Given the description of an element on the screen output the (x, y) to click on. 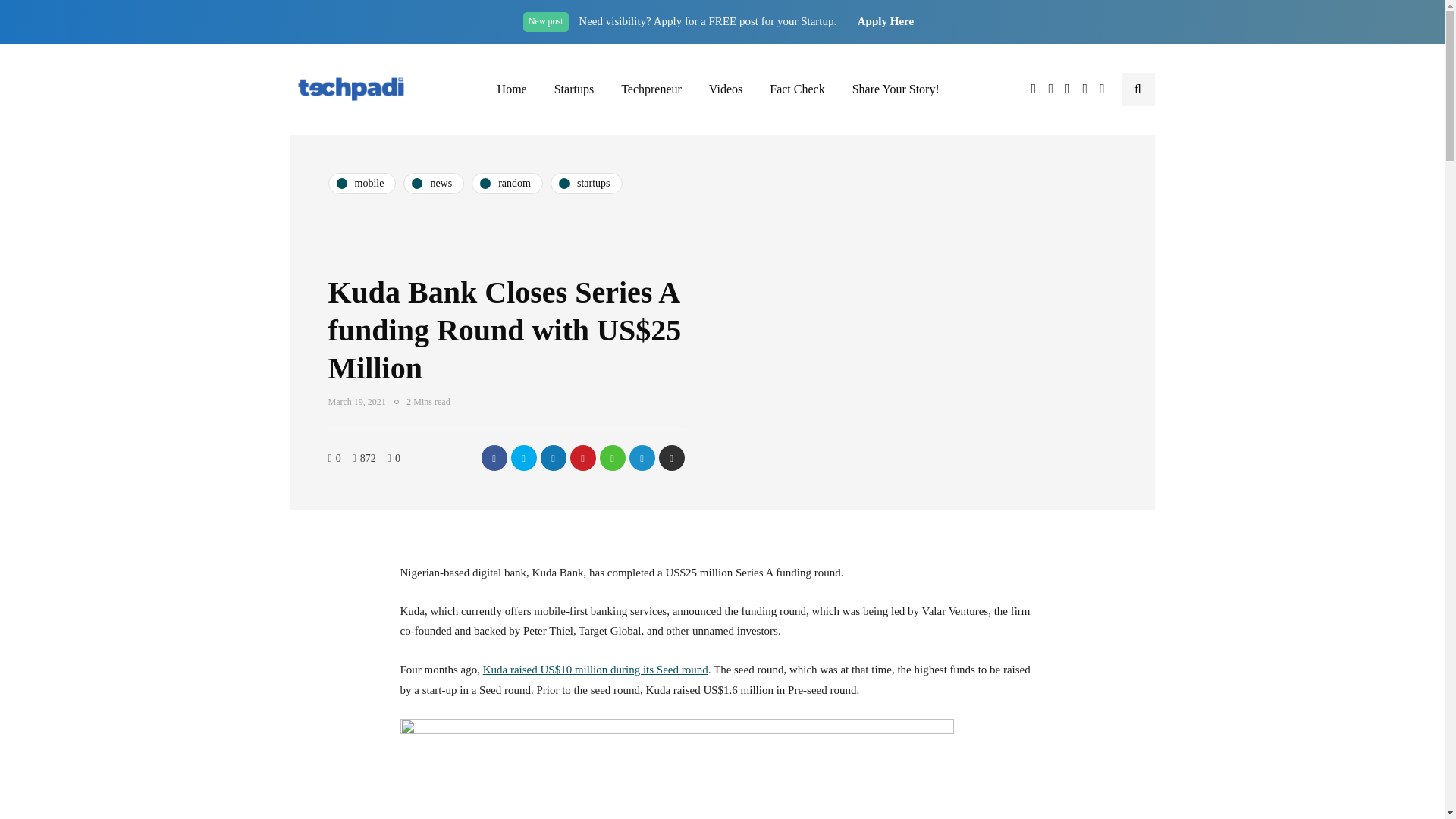
Share with Facebook (493, 457)
Share to WhatsApp (611, 457)
Share Your Story! (895, 89)
random (507, 183)
Apply Here (885, 21)
Tweet this (524, 457)
Share with LinkedIn (553, 457)
mobile (361, 183)
Home (511, 89)
Pin this (582, 457)
startups (586, 183)
Startups (573, 89)
Share to Telegram (641, 457)
Share by Email (671, 457)
Fact Check (796, 89)
